Given the description of an element on the screen output the (x, y) to click on. 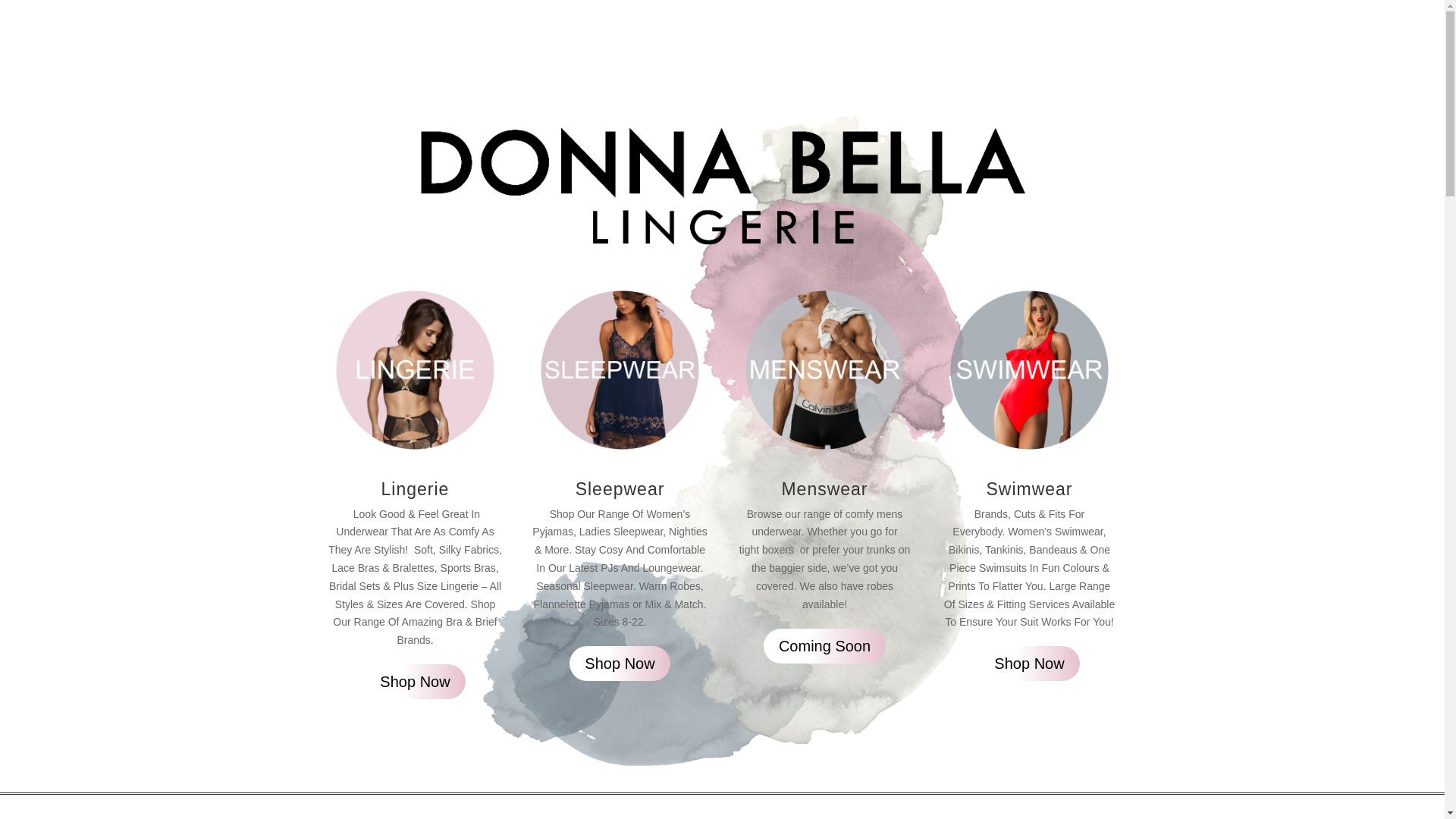
Shop Now Element type: text (619, 663)
Shop Now Element type: text (414, 681)
Coming Soon Element type: text (824, 645)
Shop Now Element type: text (1029, 663)
